Given the description of an element on the screen output the (x, y) to click on. 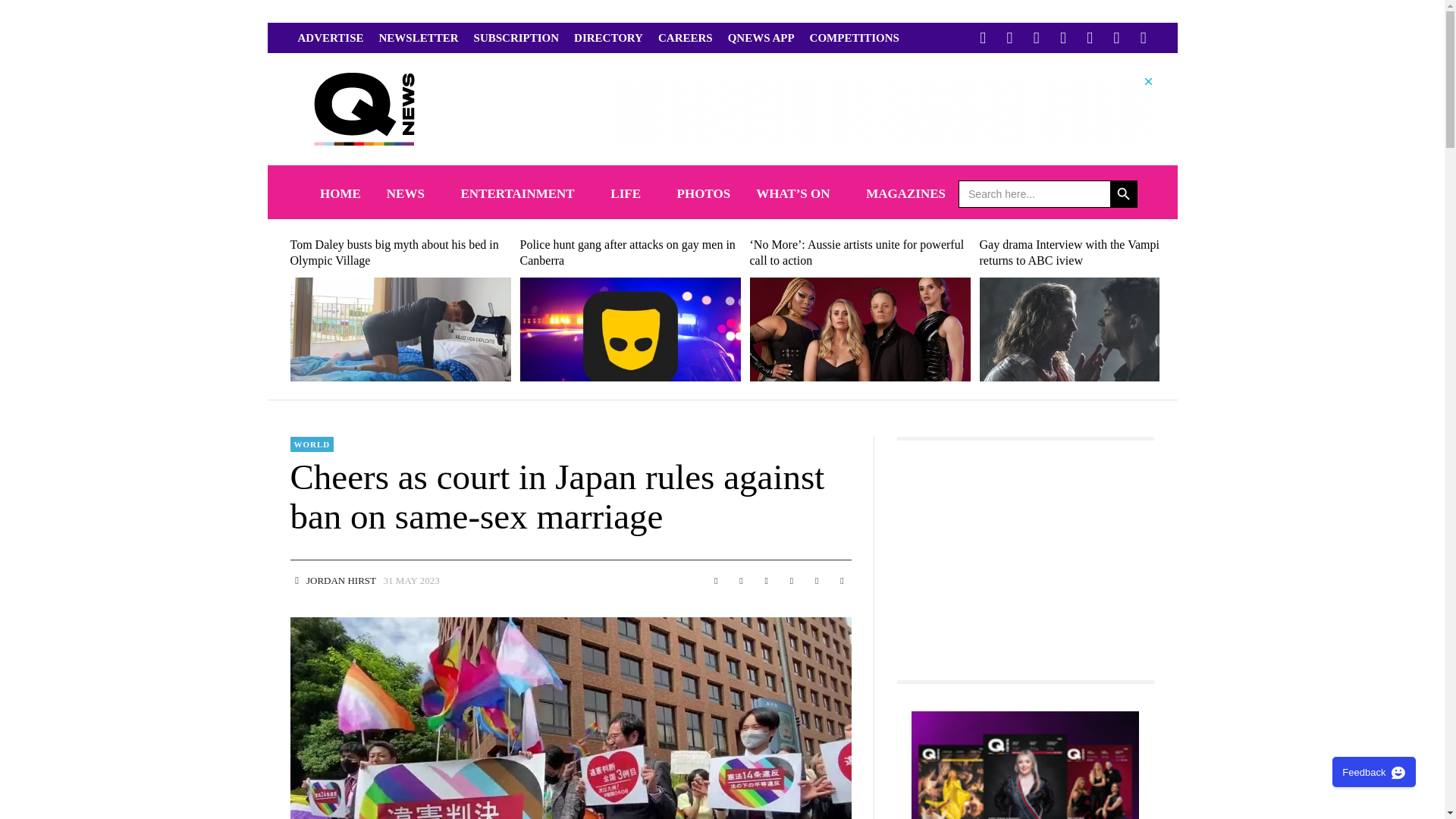
NEWS (411, 193)
QNEWS APP (761, 37)
COMPETITIONS (854, 37)
Home of LGBTIQA News  (340, 193)
LGBT News (411, 193)
SUBSCRIPTION (516, 37)
ADVERTISE (330, 37)
CAREERS (685, 37)
DIRECTORY (608, 37)
ENTERTAINMENT (521, 193)
NEWSLETTER (418, 37)
HOME (340, 193)
3rd party ad content (878, 109)
